Given the description of an element on the screen output the (x, y) to click on. 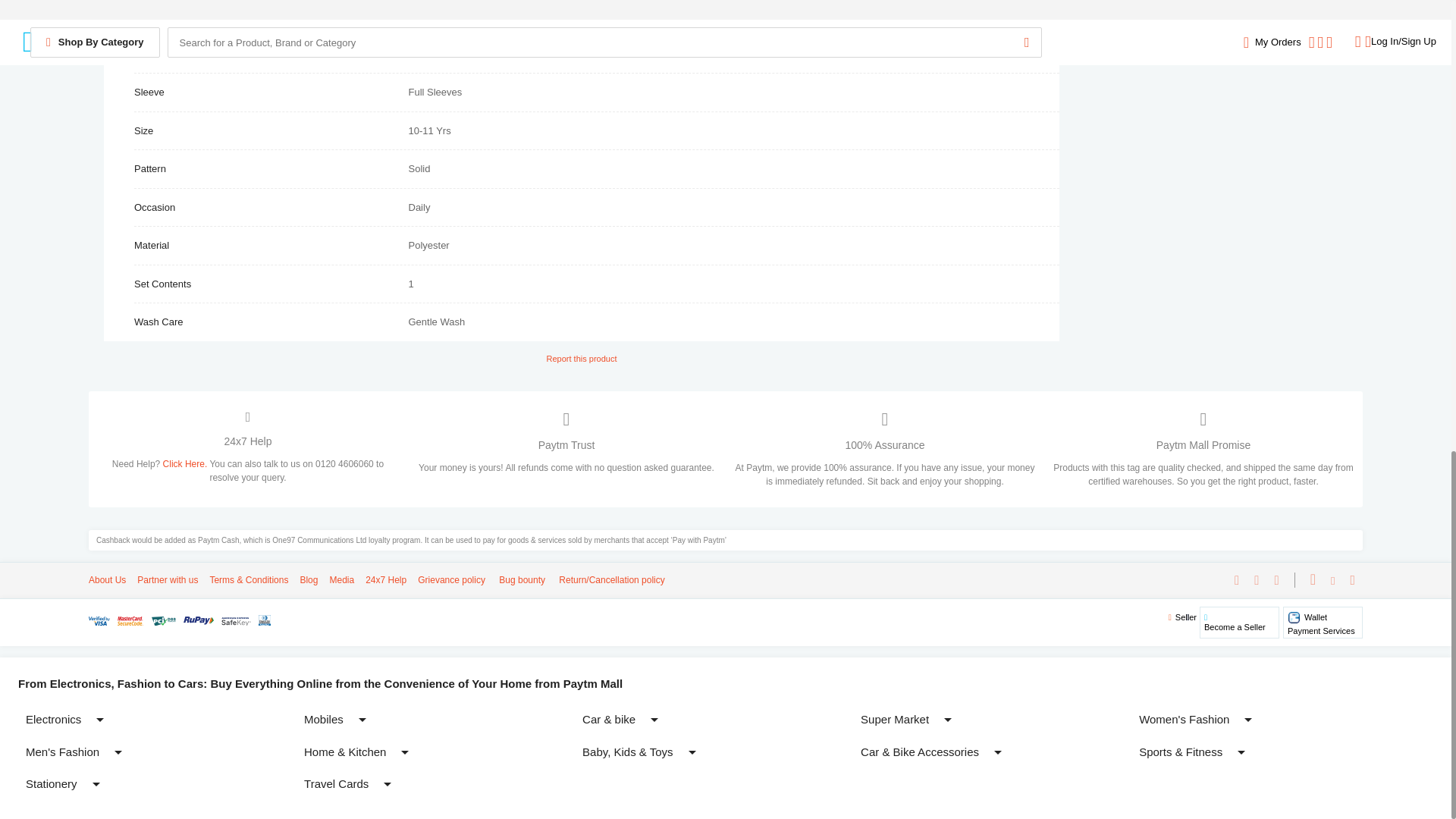
Grievance policy (450, 579)
Media (341, 579)
24x7 Help (385, 579)
Blog (308, 579)
Bug bounty (520, 579)
Partner with us (167, 579)
About Us (1322, 622)
Click Here. (106, 579)
